Given the description of an element on the screen output the (x, y) to click on. 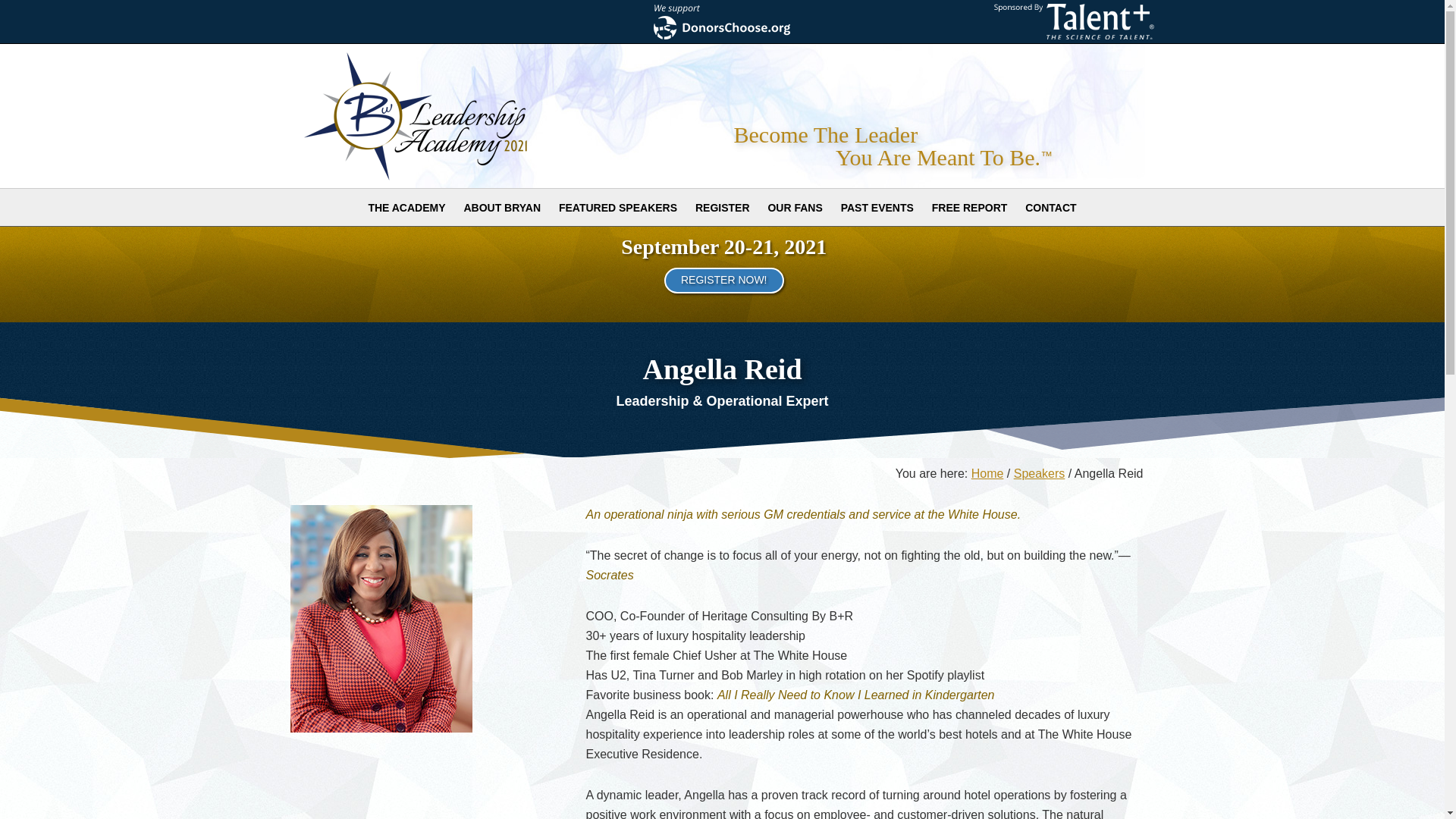
Home (987, 472)
REGISTER (722, 207)
PAST EVENTS (876, 207)
REGISTER NOW! (723, 280)
BW Leadership Academy (438, 115)
CONTACT (1050, 207)
FREE REPORT (969, 207)
OUR FANS (794, 207)
THE ACADEMY (405, 207)
ABOUT BRYAN (501, 207)
Speakers (1039, 472)
FEATURED SPEAKERS (617, 207)
